Given the description of an element on the screen output the (x, y) to click on. 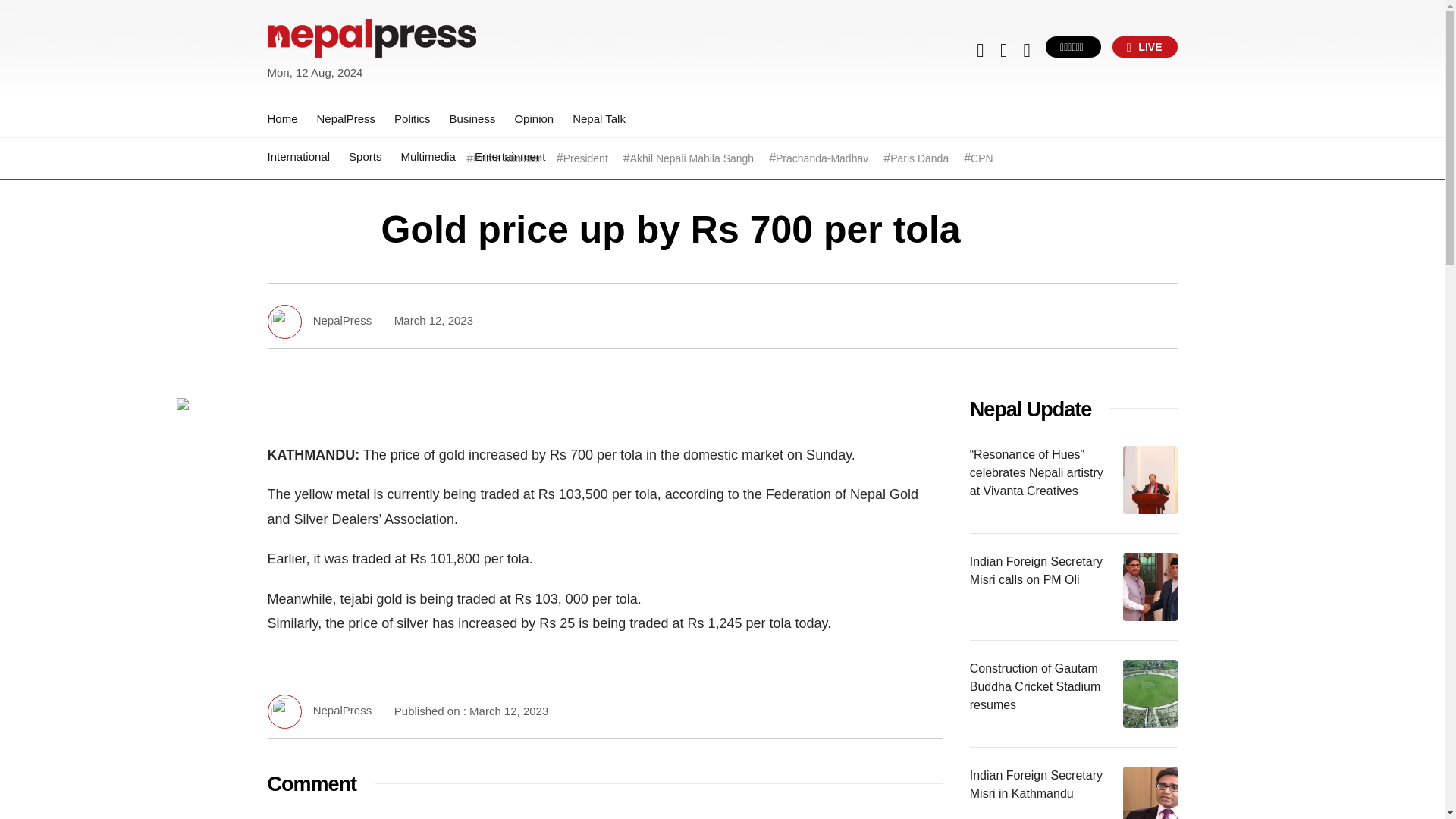
NepalPress (346, 118)
Nepal Press (303, 91)
Akhil Nepali Mahila Sangh (692, 158)
Nepal Talk (599, 118)
SEARCH (1108, 64)
CPN (981, 158)
President (585, 158)
Opinion (533, 118)
International (298, 156)
Entertainment (509, 156)
